Given the description of an element on the screen output the (x, y) to click on. 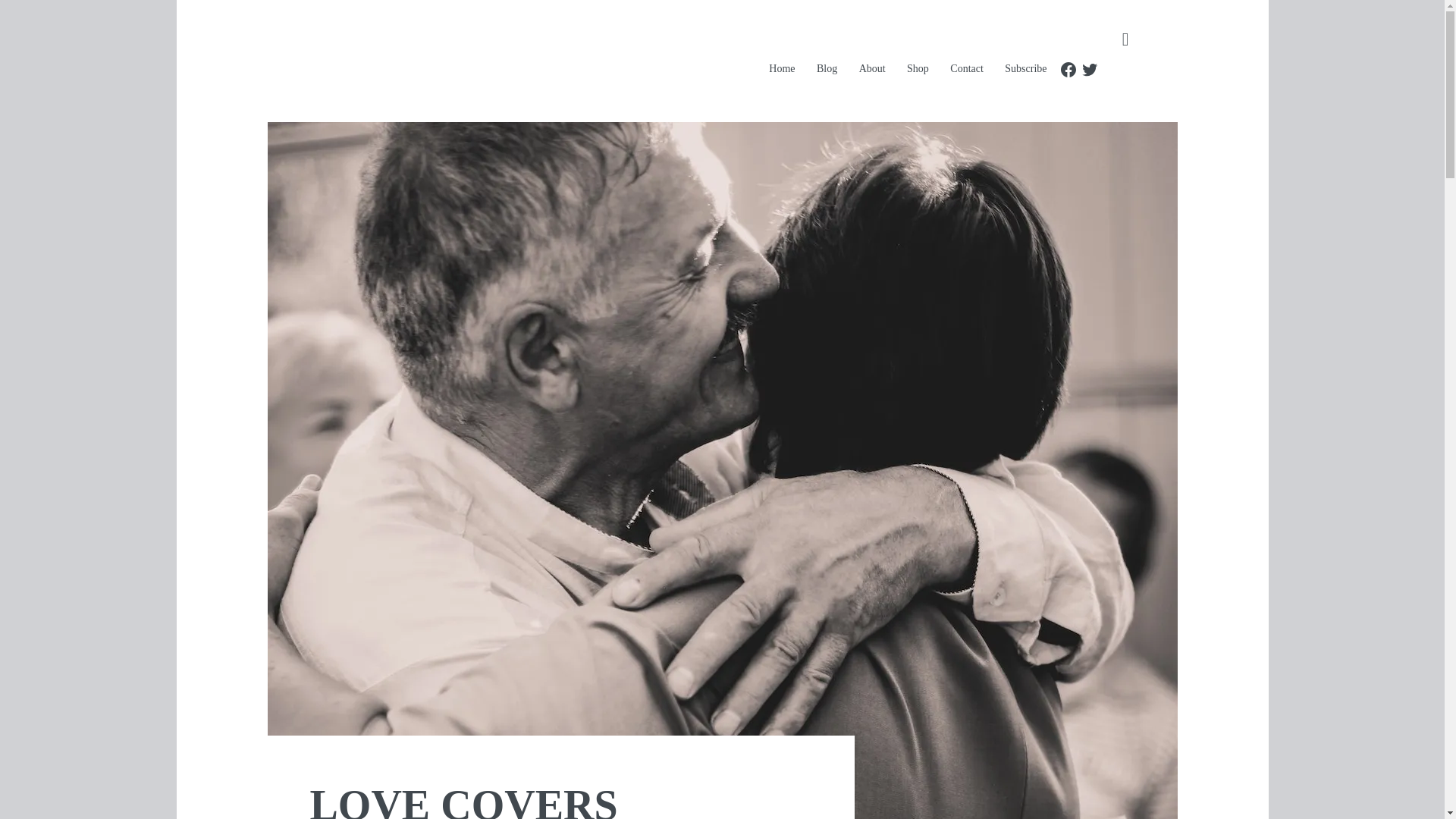
HAVING TWO LEGS (534, 60)
